Given the description of an element on the screen output the (x, y) to click on. 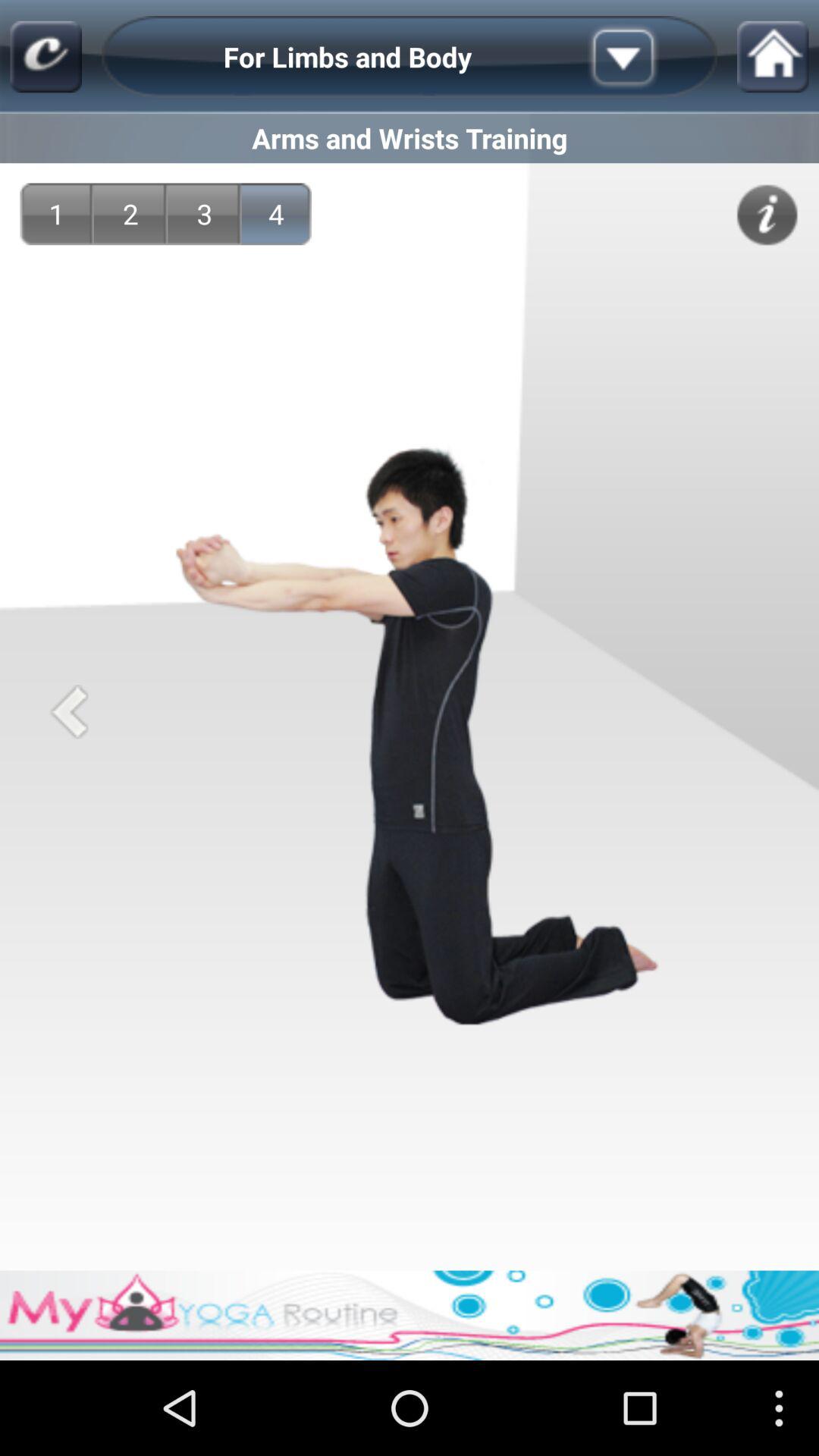
open the item to the right of 2 icon (204, 214)
